Given the description of an element on the screen output the (x, y) to click on. 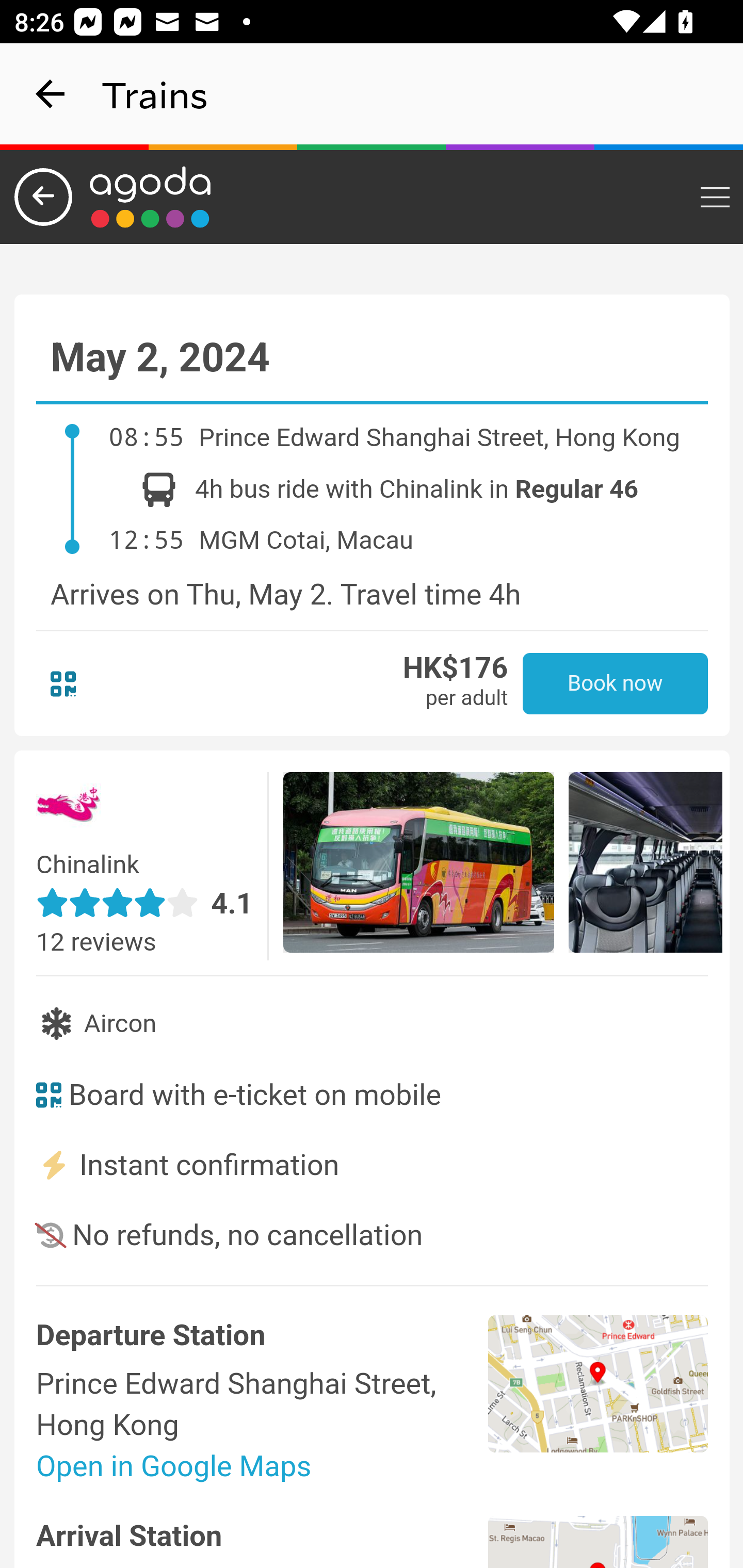
navigation_button (50, 93)
Link to main page 5418 (150, 197)
Book now (615, 683)
Chinalink Chinalink   4.1 12 reviews (153, 866)
2403-outside (418, 865)
2403-inside (644, 865)
Prince Edward Shanghai Street (598, 1400)
Open in Google Maps (262, 1466)
MGM Cotai (598, 1541)
